Given the description of an element on the screen output the (x, y) to click on. 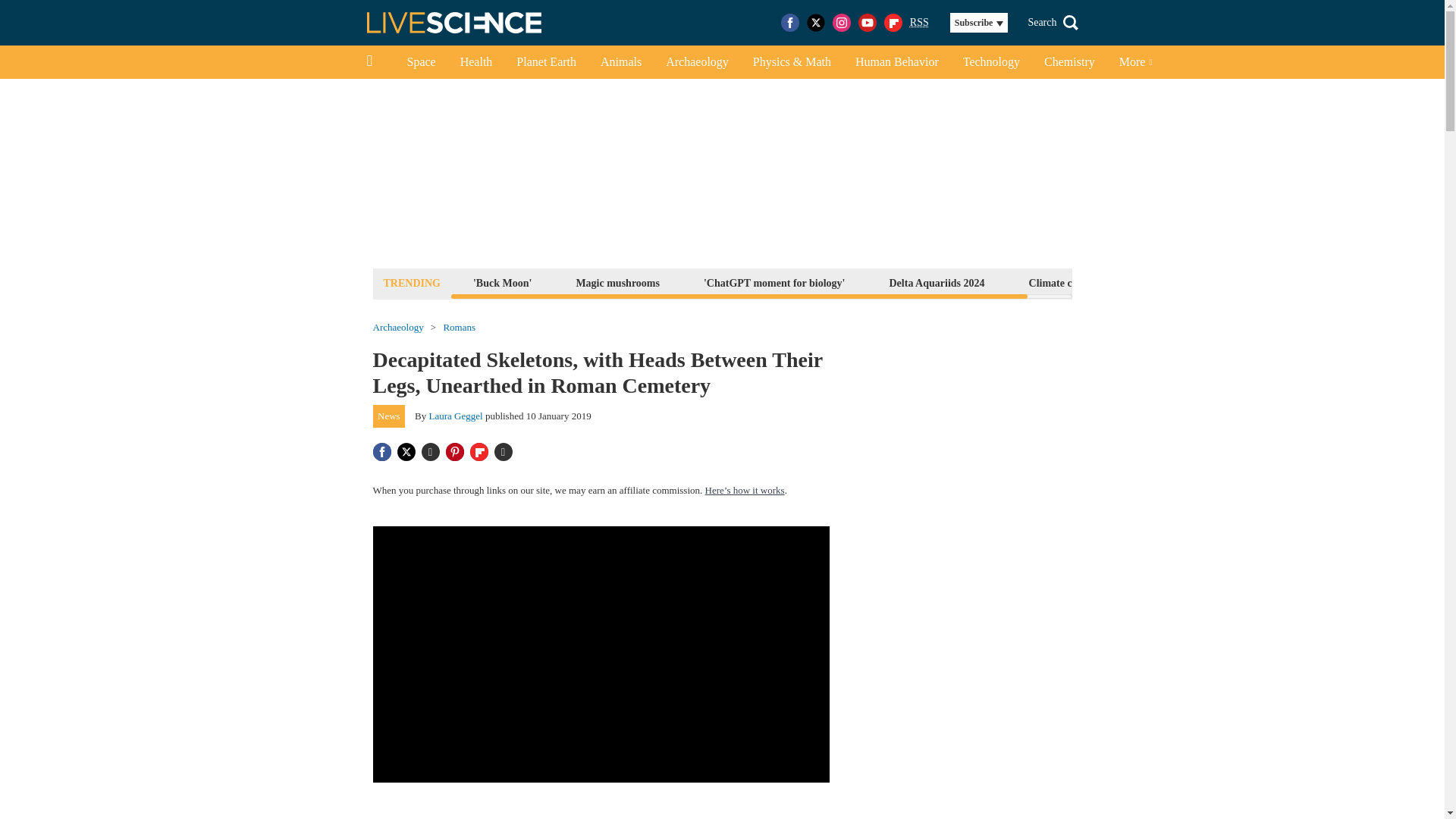
Animals (620, 61)
Planet Earth (545, 61)
Health (476, 61)
Delta Aquariids 2024 (936, 282)
Archaeology (697, 61)
Technology (991, 61)
Climate change (1064, 282)
Laura Geggel (456, 415)
Space (420, 61)
News (389, 415)
Human Behavior (896, 61)
Really Simple Syndication (919, 21)
Romans (459, 327)
Magic mushrooms (617, 282)
Archaeology (397, 327)
